Given the description of an element on the screen output the (x, y) to click on. 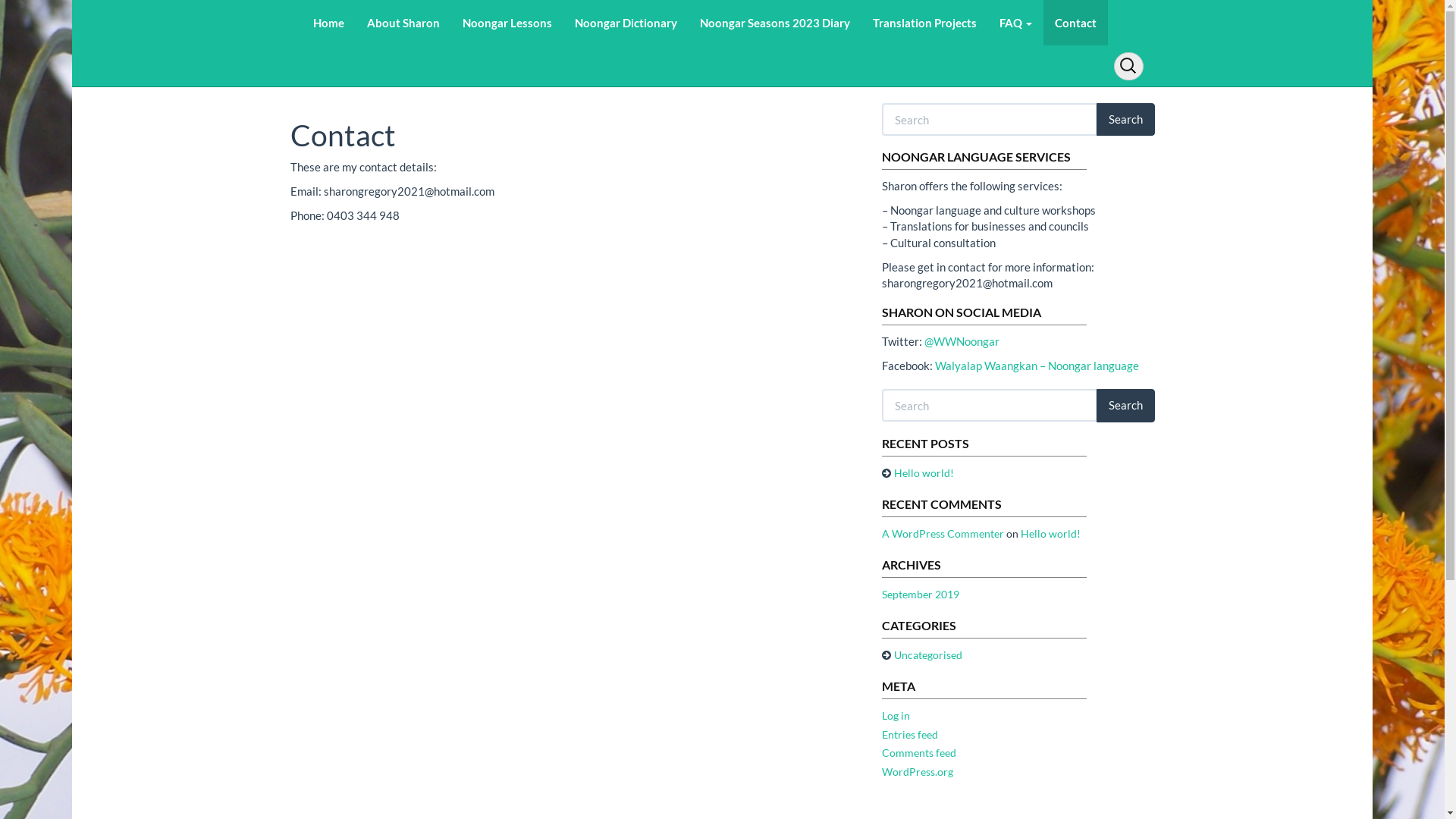
Home Element type: text (328, 22)
A WordPress Commenter Element type: text (942, 533)
Search Element type: text (1125, 405)
September 2019 Element type: text (919, 593)
Noongar Seasons 2023 Diary Element type: text (774, 22)
@WWNoongar Element type: text (960, 341)
Uncategorised Element type: text (927, 654)
Log in Element type: text (895, 715)
Entries feed Element type: text (909, 734)
Comments feed Element type: text (918, 752)
Noongar Lessons Element type: text (506, 22)
About Sharon Element type: text (402, 22)
Contact Element type: text (1075, 22)
FAQ Element type: text (1014, 22)
Translation Projects Element type: text (924, 22)
Search Element type: text (1125, 119)
Noongar Dictionary Element type: text (624, 22)
Hello world! Element type: text (1050, 533)
Hello world! Element type: text (923, 472)
WordPress.org Element type: text (916, 771)
